Given the description of an element on the screen output the (x, y) to click on. 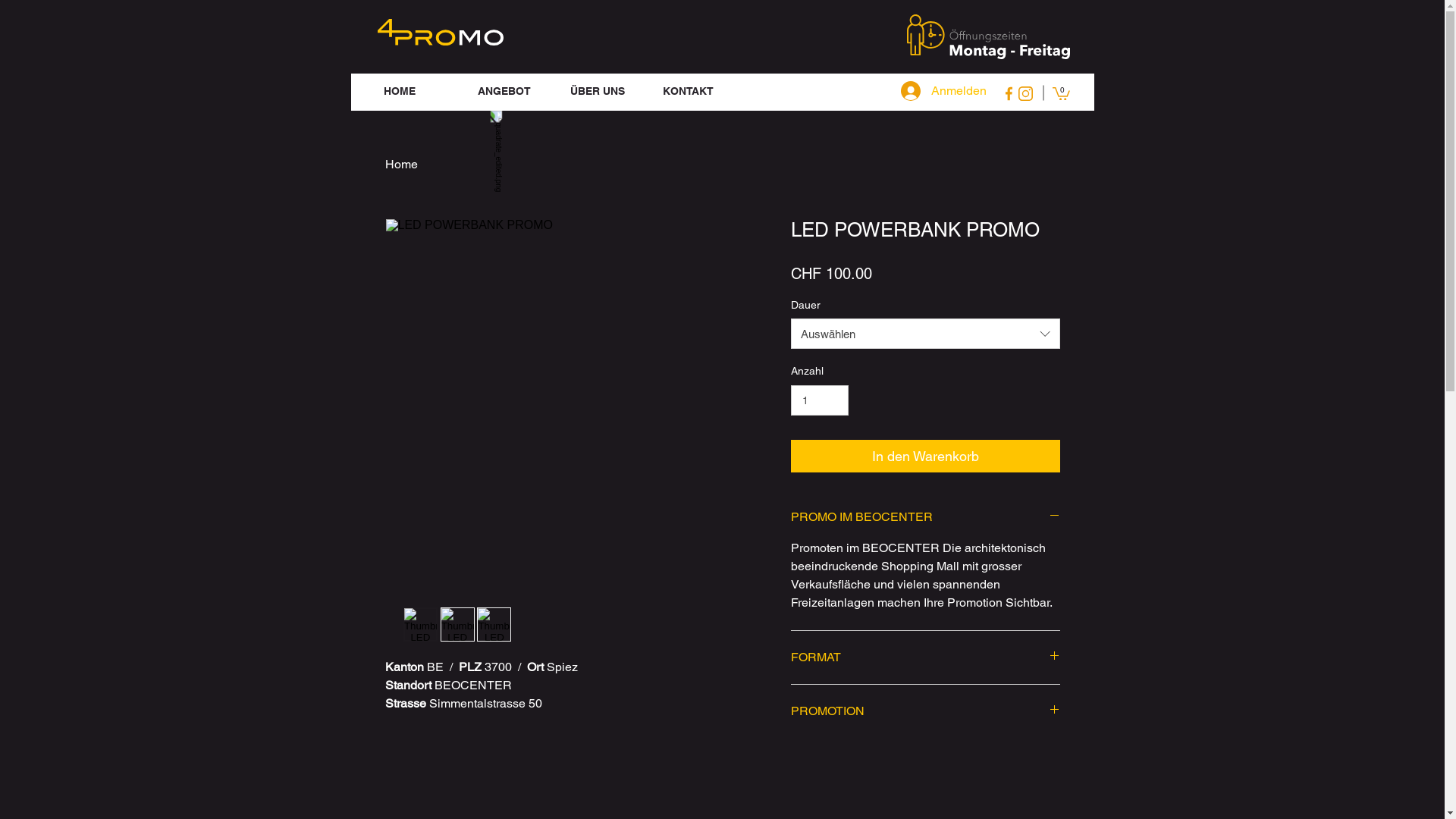
ANGEBOT Element type: text (511, 91)
HOME Element type: text (417, 91)
Home Element type: text (401, 163)
PROMO IM BEOCENTER Element type: text (924, 516)
Anmelden Element type: text (923, 90)
PROMOTION Element type: text (924, 710)
In den Warenkorb Element type: text (924, 455)
FORMAT Element type: text (924, 657)
KONTAKT Element type: text (696, 91)
0 Element type: text (1061, 92)
